Given the description of an element on the screen output the (x, y) to click on. 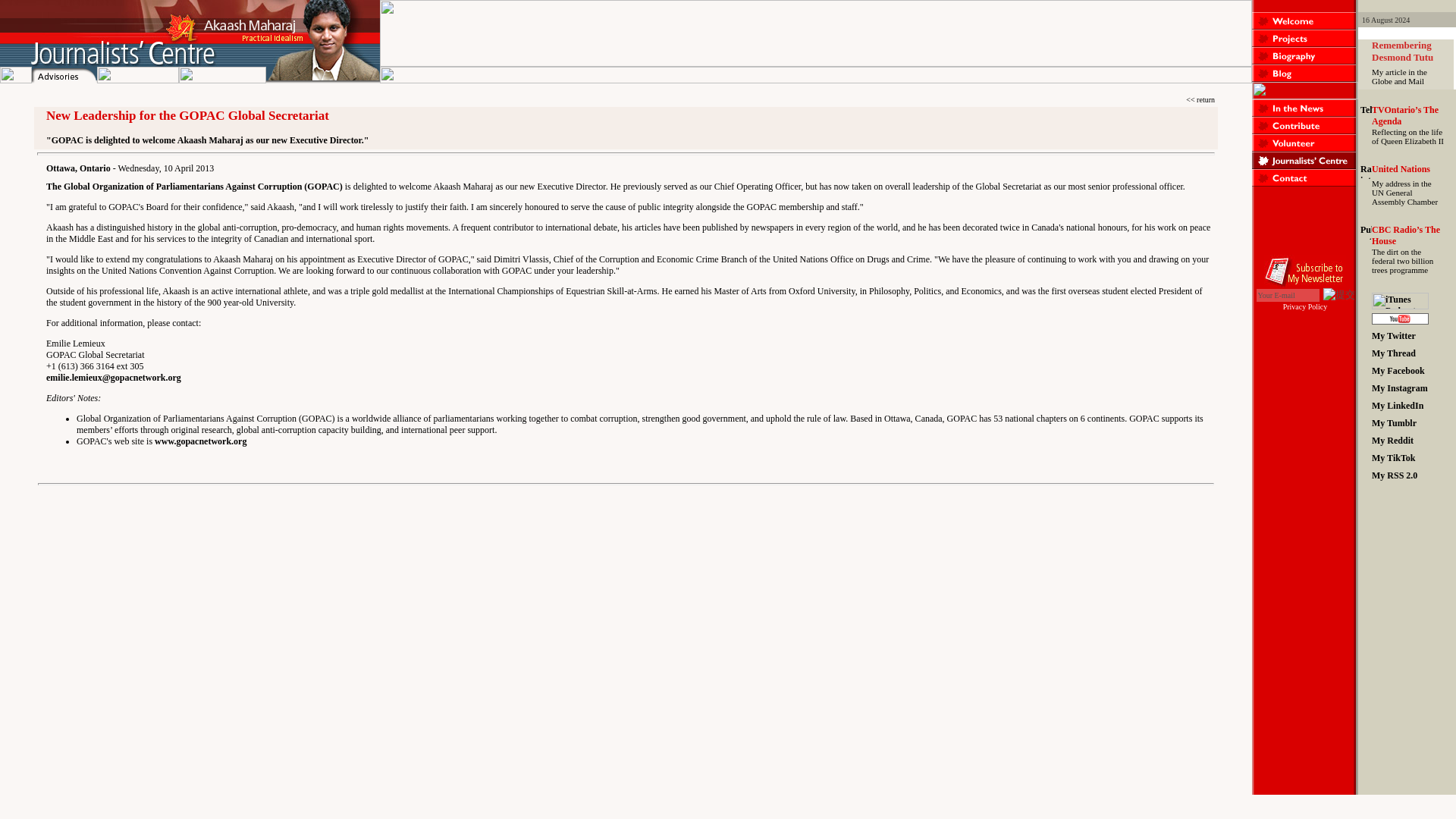
United Nations (1400, 168)
The Agenda with Steve Paikin (1404, 115)
United Nations General Assembly Chamber (1400, 168)
Join my Facebook friends (1399, 373)
CBC Radio (1405, 235)
Your E-mail (1287, 295)
Connect our Threads (1399, 356)
See my posts at Instagram (1399, 390)
Privacy Policy (1304, 306)
Subscribe to my podcasts through iTunes (1399, 306)
